Given the description of an element on the screen output the (x, y) to click on. 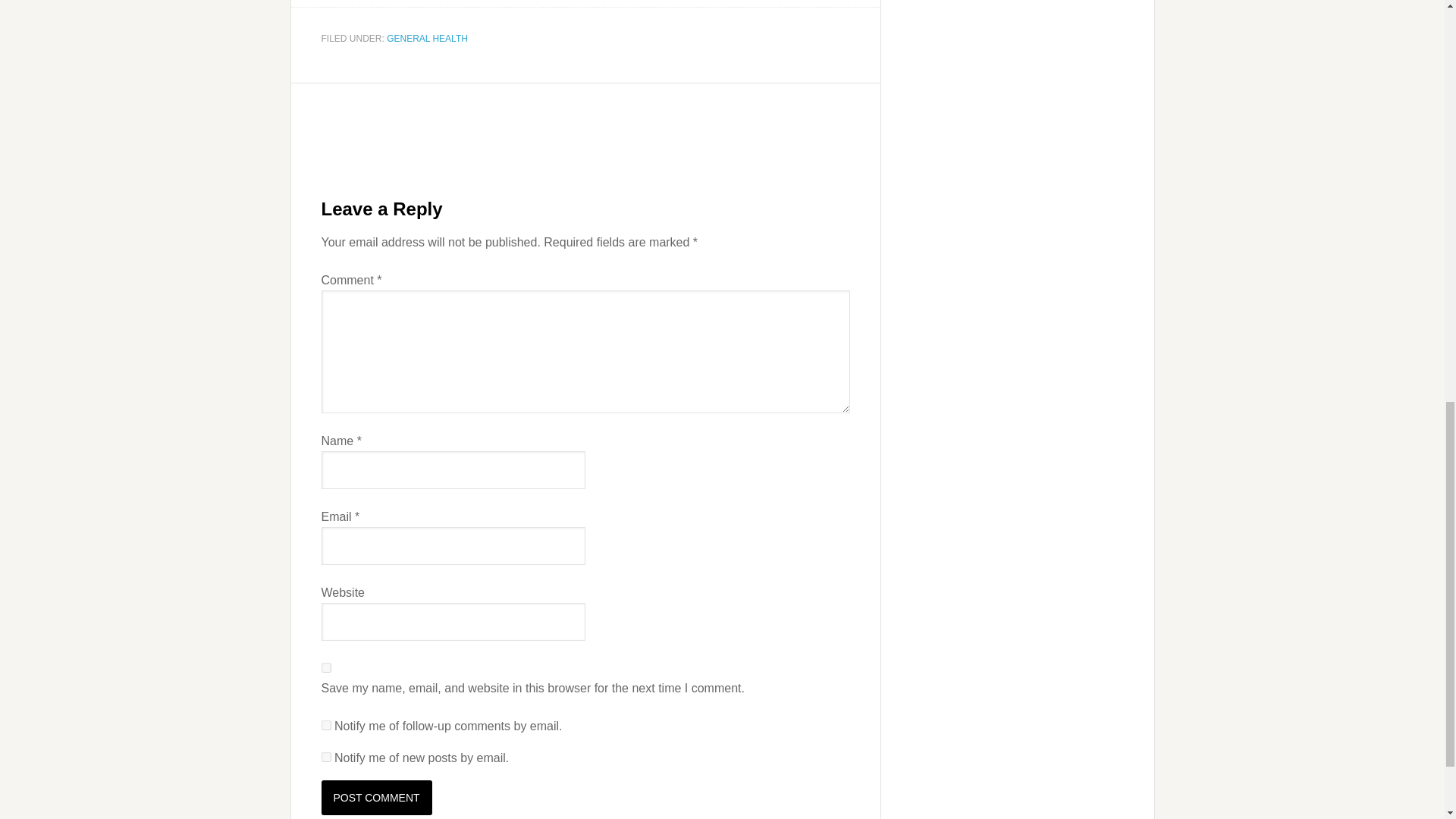
subscribe (326, 725)
yes (326, 667)
GENERAL HEALTH (427, 38)
Post Comment (376, 797)
subscribe (326, 757)
Post Comment (376, 797)
